Given the description of an element on the screen output the (x, y) to click on. 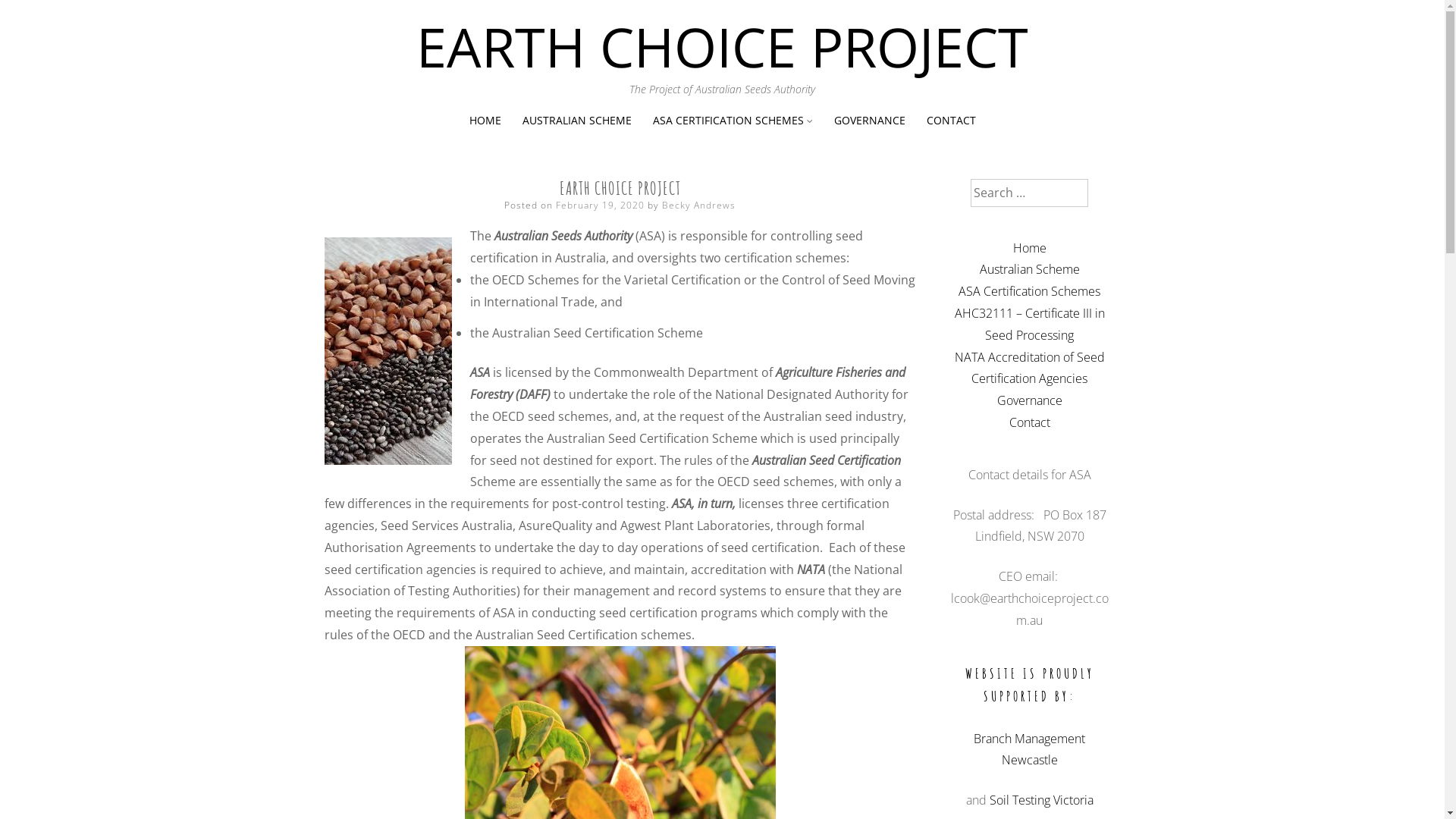
NATA Accreditation of Seed Certification Agencies Element type: text (1028, 367)
CONTACT Element type: text (950, 119)
ASA Certification Schemes Element type: text (1029, 290)
Australian Scheme Element type: text (1029, 268)
Home Element type: text (1029, 247)
Branch Management Newcastle Element type: text (1029, 749)
Becky Andrews Element type: text (698, 204)
Search Element type: text (30, 14)
HOME Element type: text (484, 119)
February 19, 2020 Element type: text (599, 204)
SKIP TO CONTENT Element type: text (721, 109)
EARTH CHOICE PROJECT Element type: text (722, 46)
GOVERNANCE Element type: text (869, 119)
AUSTRALIAN SCHEME Element type: text (575, 119)
Contact Element type: text (1028, 422)
ASA CERTIFICATION SCHEMES Element type: text (727, 119)
Governance Element type: text (1028, 400)
Soil Testing Victoria Element type: text (1040, 799)
